Given the description of an element on the screen output the (x, y) to click on. 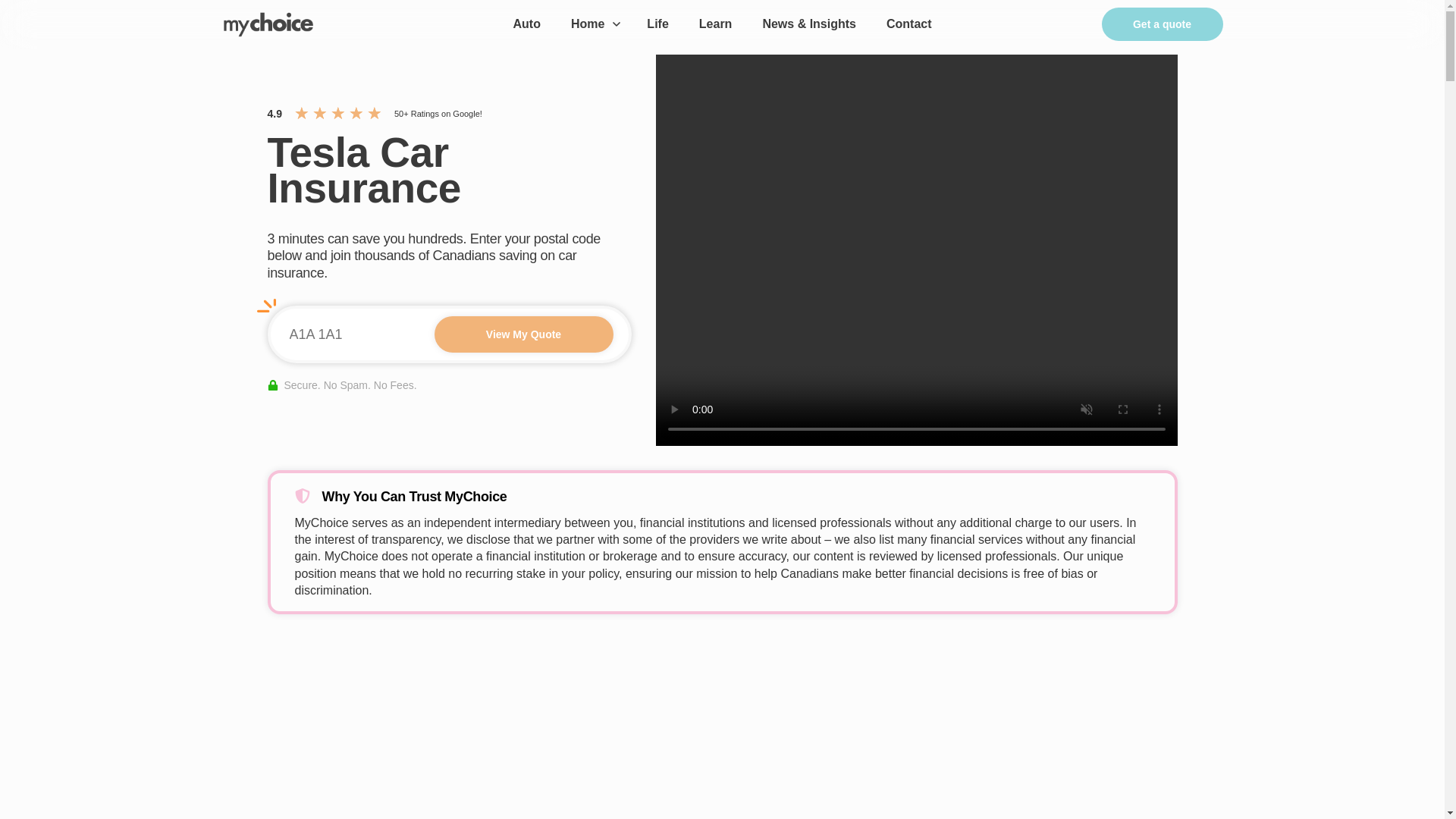
Life (656, 24)
Contact (908, 24)
View My Quote (522, 334)
Auto (525, 24)
Get a quote (1161, 23)
Learn (716, 24)
